Given the description of an element on the screen output the (x, y) to click on. 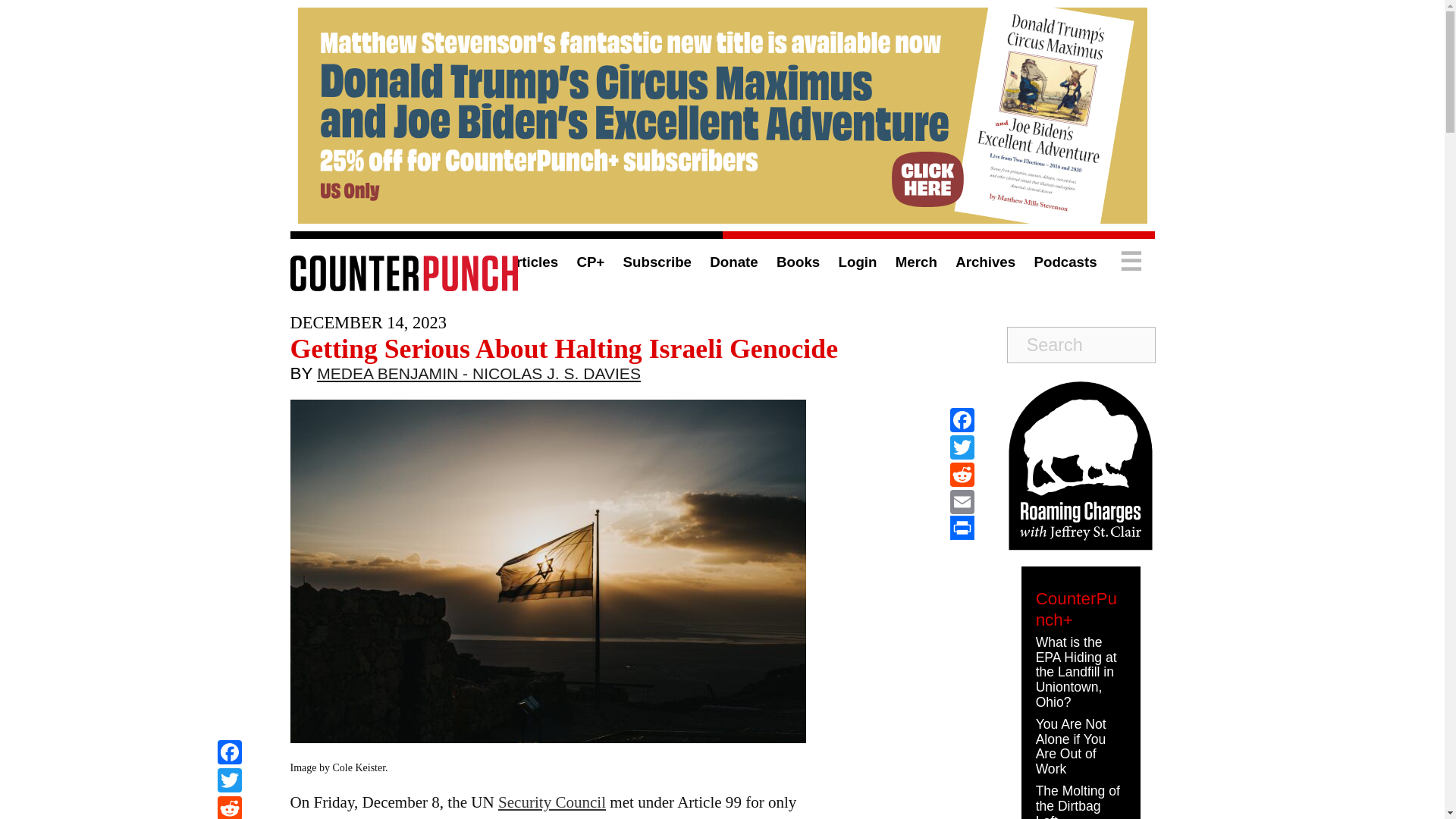
Facebook (229, 754)
Facebook (962, 420)
Twitter (229, 782)
Email (962, 501)
MEDEA BENJAMIN - NICOLAS J. S. DAVIES (478, 376)
Reddit (229, 807)
Login (857, 261)
Getting Serious About Halting Israeli Genocide (563, 348)
Facebook (229, 754)
Print This Post (962, 527)
2023-12-14 (367, 322)
Reddit (229, 807)
Books (797, 261)
Security Council (551, 802)
Podcasts (1064, 261)
